Given the description of an element on the screen output the (x, y) to click on. 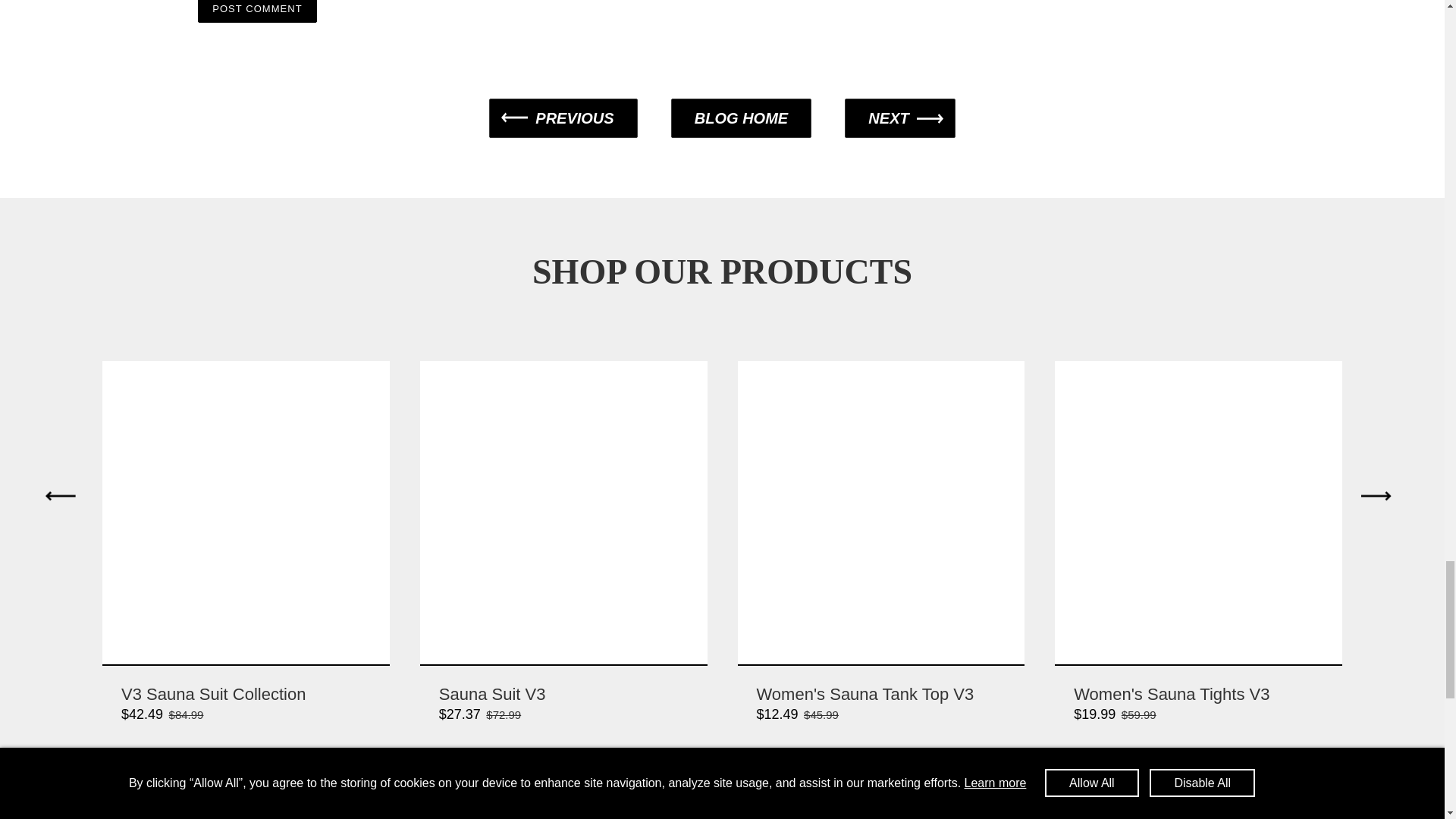
Post comment (256, 11)
